Given the description of an element on the screen output the (x, y) to click on. 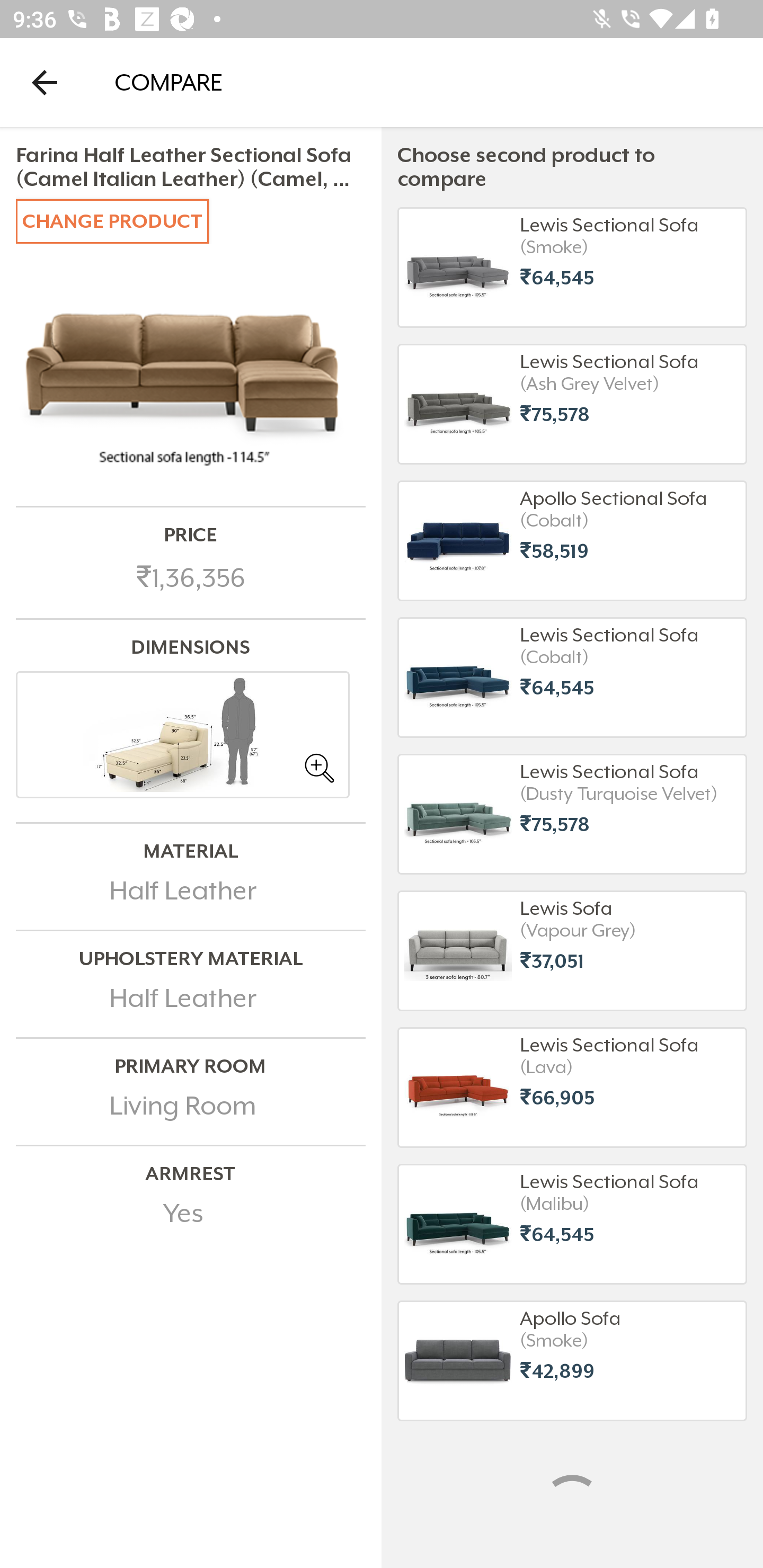
Navigate up (44, 82)
CHANGE PRODUCT (112, 221)
Lewis Sectional Sofa (Smoke) ₹64,545 (571, 266)
Lewis Sectional Sofa (Ash Grey Velvet) ₹75,578 (571, 403)
Apollo Sectional Sofa (Cobalt) ₹58,519 (571, 539)
Lewis Sectional Sofa (Cobalt) ₹64,545 (571, 677)
Lewis Sofa (Vapour Grey) ₹37,051 (571, 950)
Lewis Sectional Sofa (Lava) ₹66,905 (571, 1087)
Lewis Sectional Sofa (Malibu) ₹64,545 (571, 1223)
Apollo Sofa (Smoke) ₹42,899 (571, 1359)
